Given the description of an element on the screen output the (x, y) to click on. 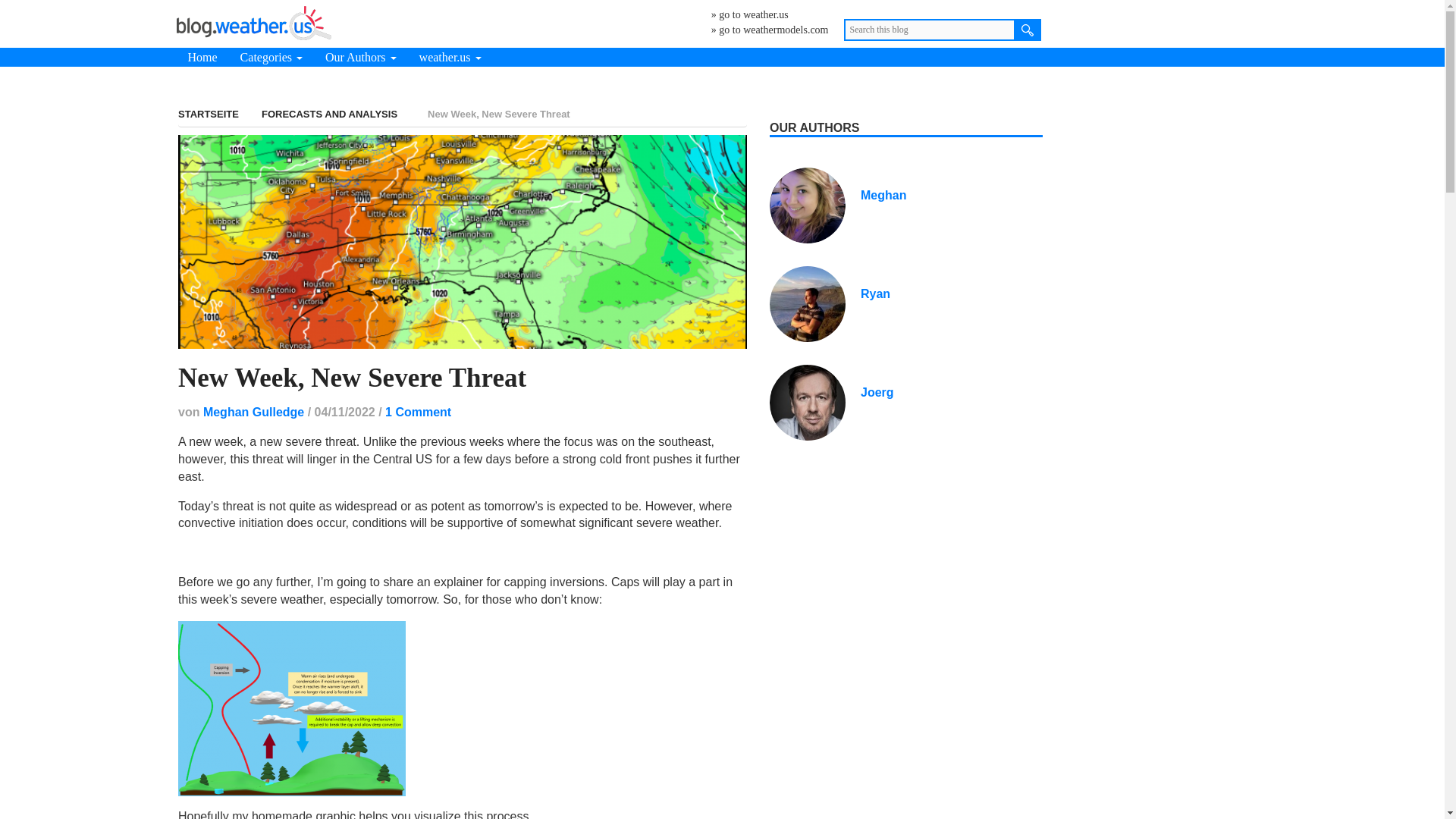
New Week, New Severe Threat (351, 378)
Categories (271, 56)
Our Authors (360, 56)
Meteorologist Joerg (807, 400)
Meteorologist Ryan (807, 302)
New Week, New Severe Threat (351, 378)
New Week, New Severe Threat (461, 241)
1 Comment (418, 411)
Home (202, 56)
FORECASTS AND ANALYSIS (329, 113)
weather.us (450, 56)
Meteorologist Ryan Maue (874, 293)
Meteorologist Meghan Gulledge (882, 195)
Posts by Meghan Gulledge (253, 411)
Search (1027, 29)
